Given the description of an element on the screen output the (x, y) to click on. 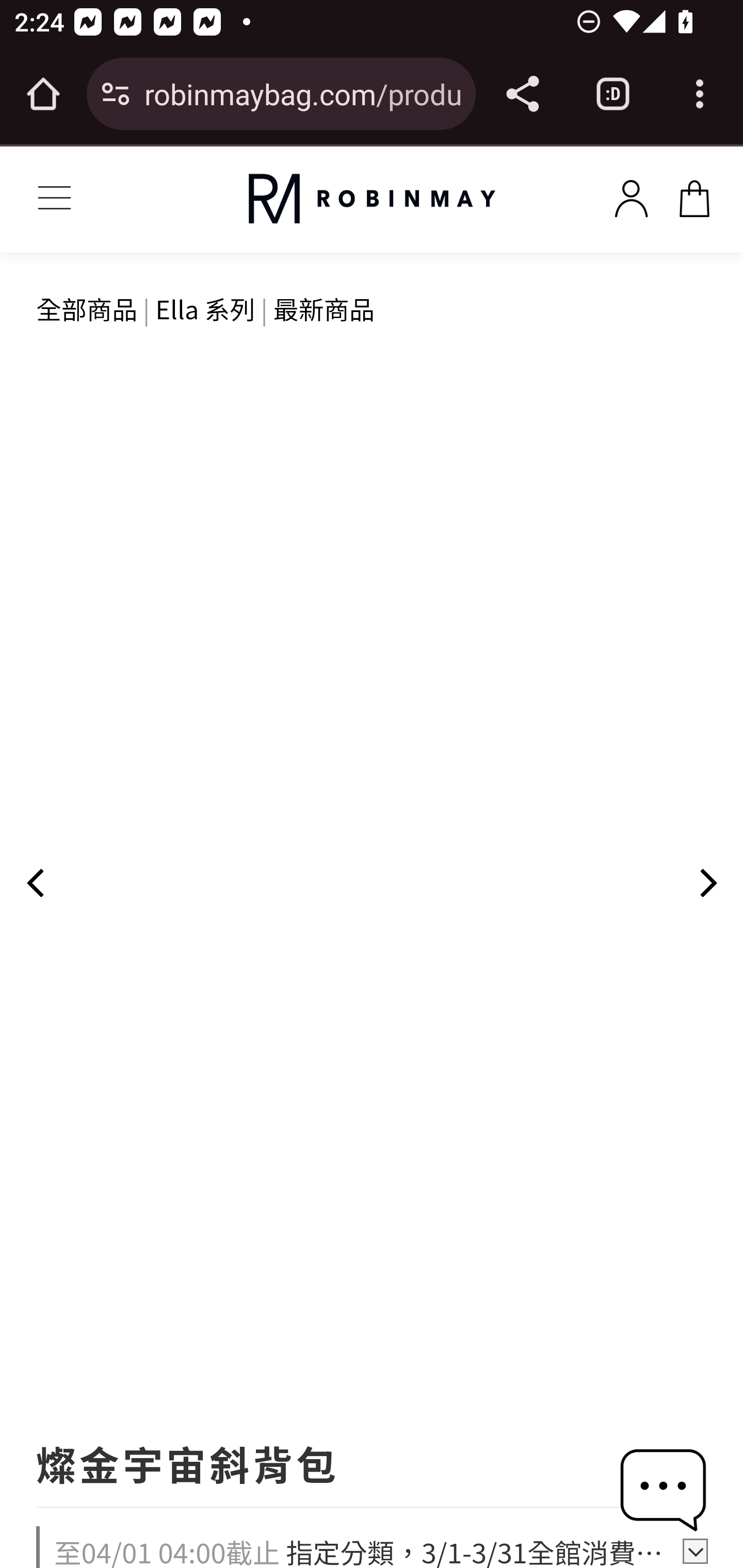
Open the home page (43, 93)
Connection is secure (115, 93)
Share (522, 93)
Switch or close tabs (612, 93)
Customize and control Google Chrome (699, 93)
original (371, 199)
x100 (631, 195)
x100 (694, 195)
全部商品 (87, 308)
Ella 系列 (205, 308)
最新商品 (323, 308)
